Given the description of an element on the screen output the (x, y) to click on. 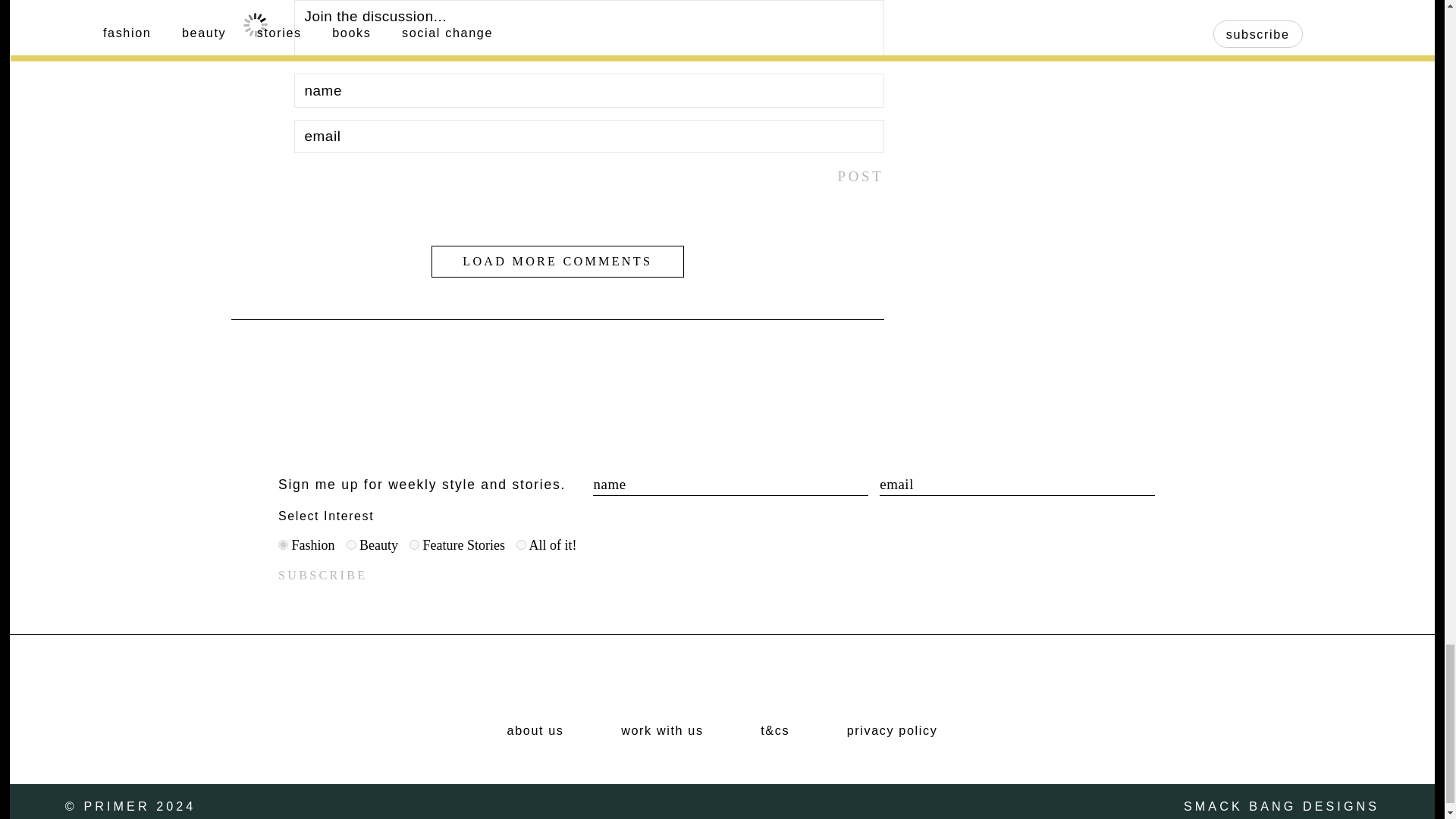
about us (535, 730)
Fashion (283, 544)
POST (860, 177)
Subscribe (322, 575)
Feature Stories (414, 544)
Subscribe (322, 575)
All of it! (520, 544)
LOAD MORE COMMENTS (557, 261)
Beauty (350, 544)
